Given the description of an element on the screen output the (x, y) to click on. 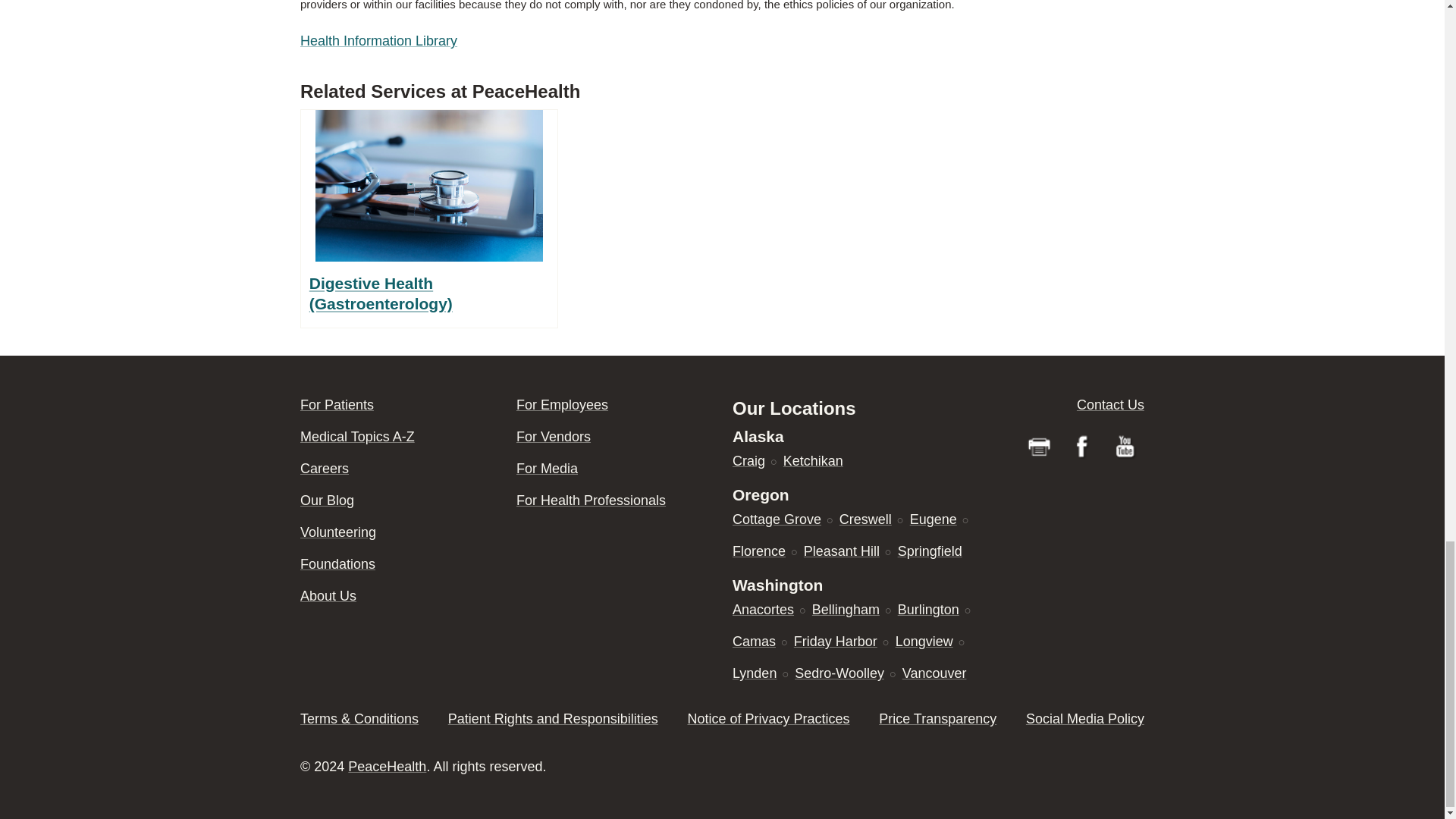
Employee portal for PeaceHealth Caregivers (562, 404)
Information for vendors (553, 436)
